Given the description of an element on the screen output the (x, y) to click on. 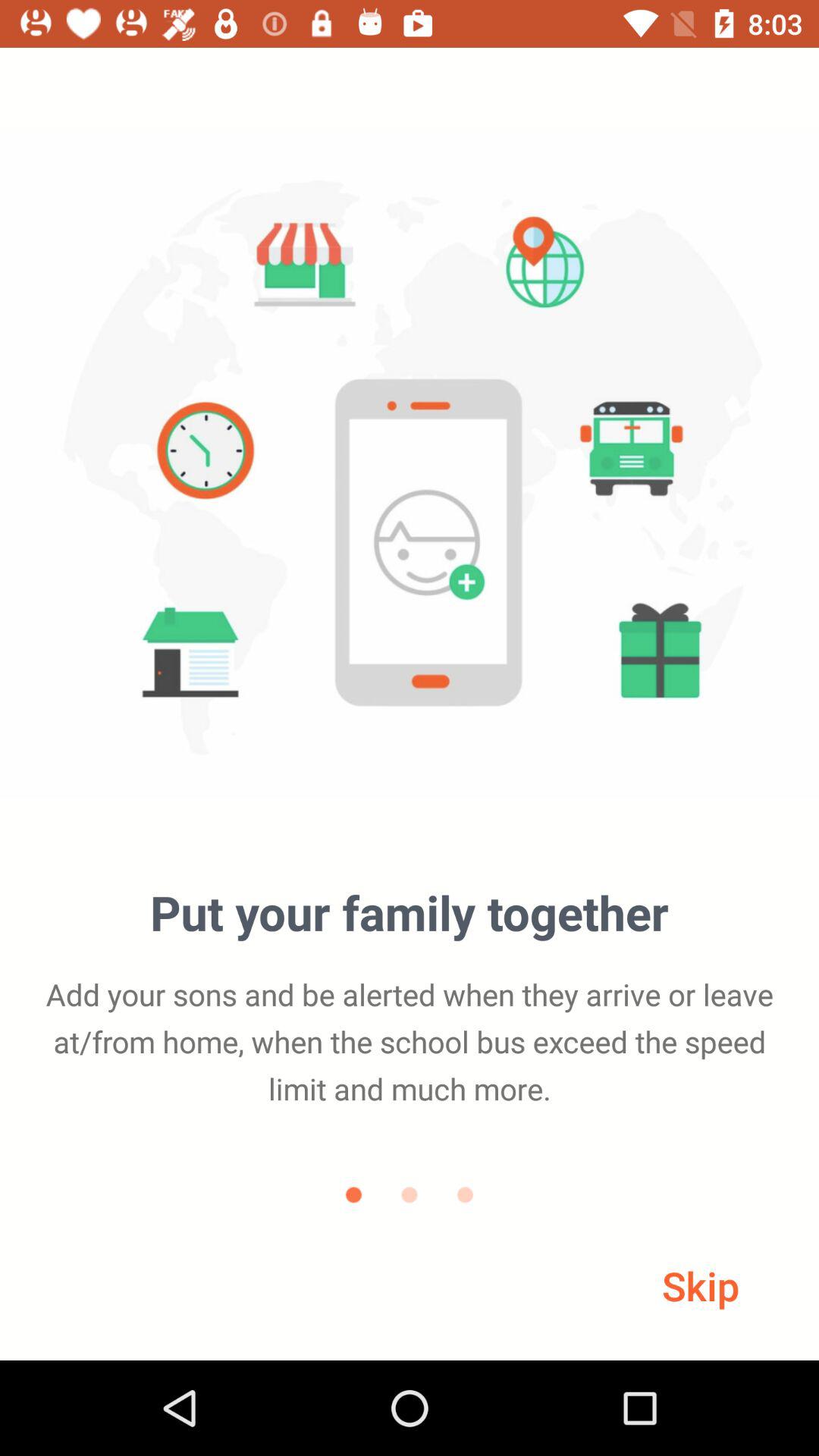
launch the skip item (700, 1285)
